Given the description of an element on the screen output the (x, y) to click on. 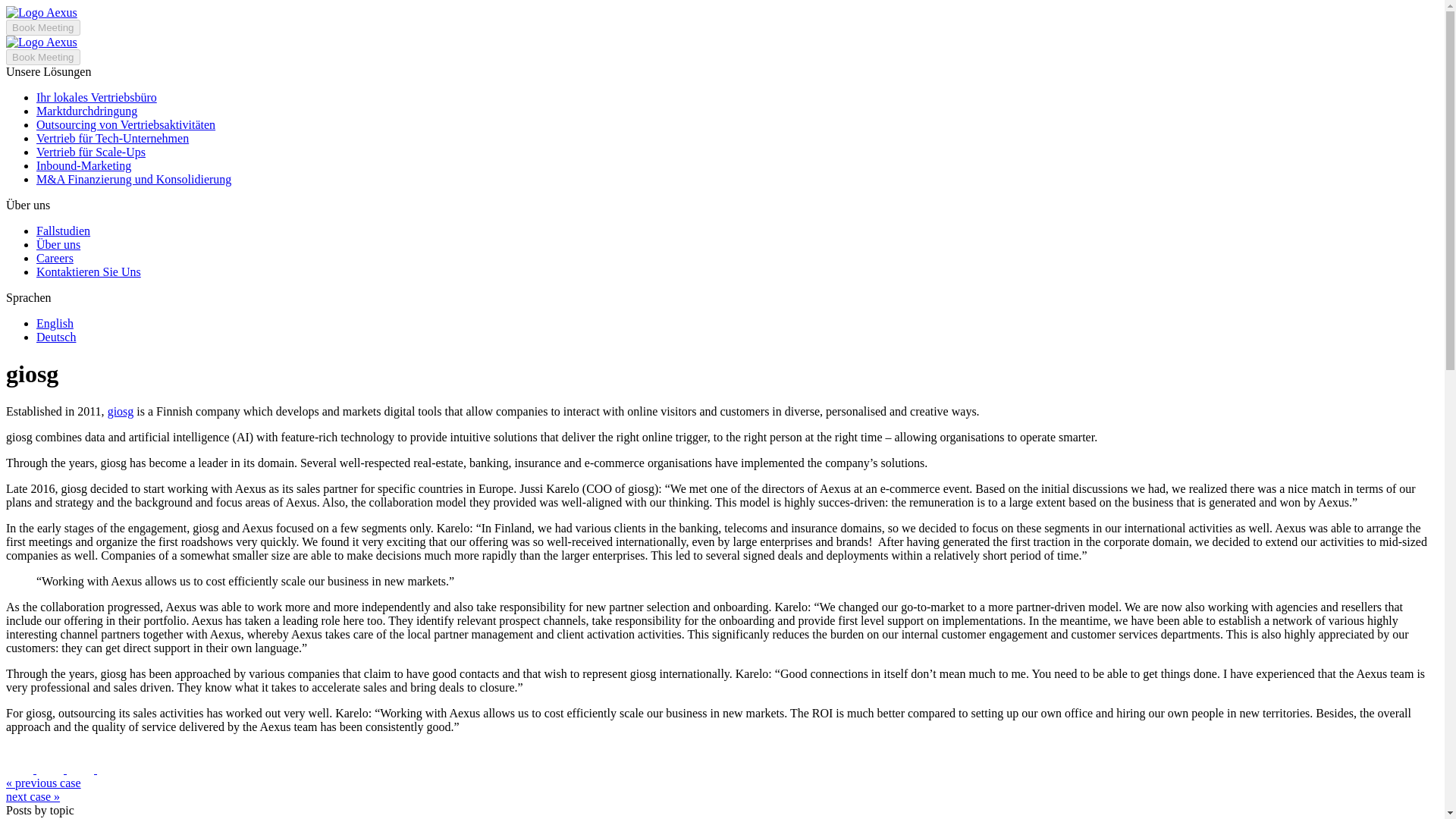
Inbound-Marketing (83, 164)
giosg (120, 410)
Fallstudien (63, 230)
Book Meeting (42, 27)
Linkedin (112, 768)
Careers (55, 257)
Book Meeting (42, 56)
Share per e-mail (20, 768)
English (55, 323)
Deutsch (55, 336)
